Given the description of an element on the screen output the (x, y) to click on. 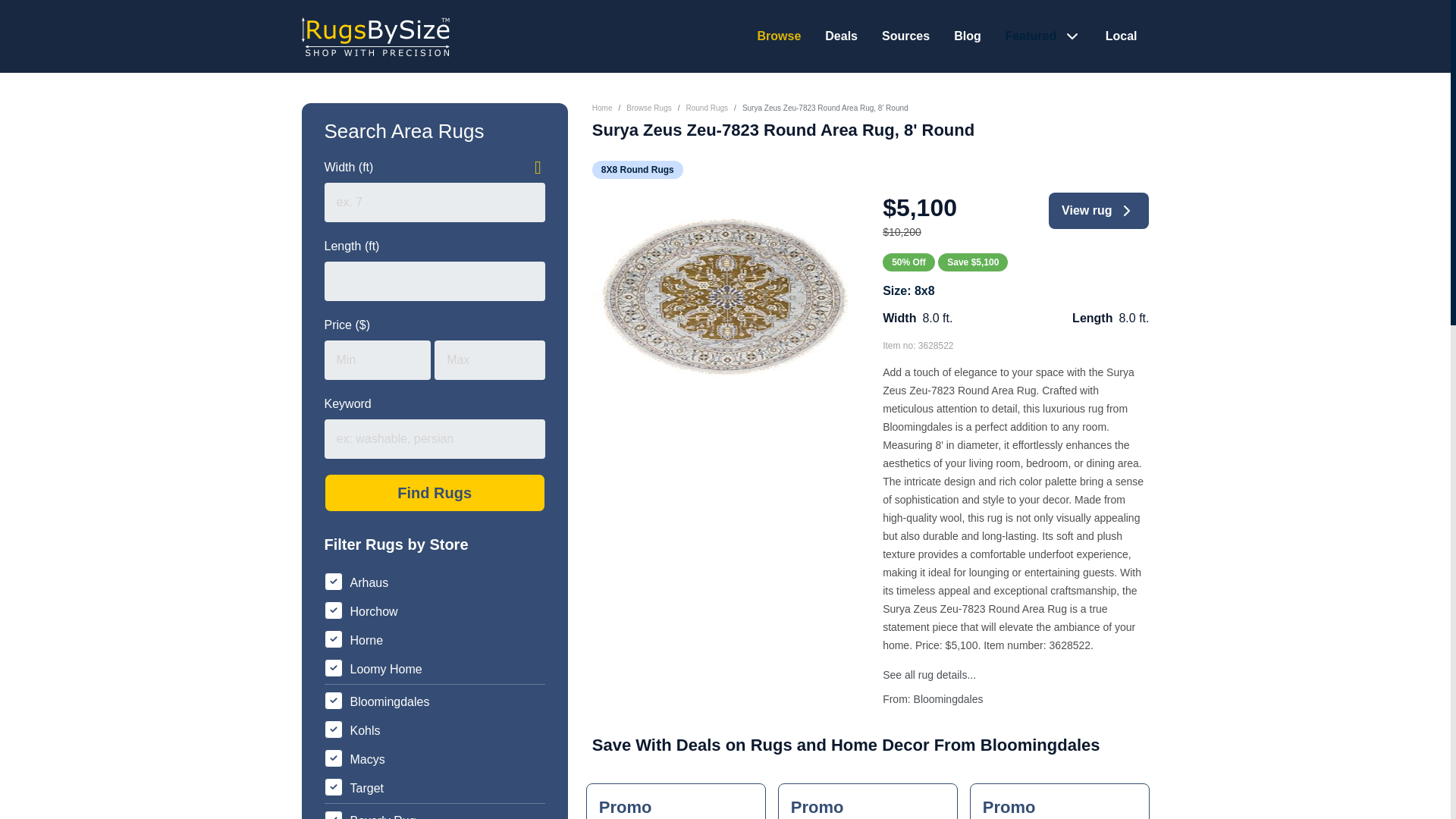
Featured (1032, 35)
Deals (841, 35)
Browse Rugs (648, 108)
Sources (906, 35)
View rug (1098, 210)
Bloomingdales (949, 698)
Round Rugs (706, 108)
Promo (867, 800)
Find Rugs (675, 800)
Home (434, 492)
Blog (602, 108)
Browse (967, 35)
Local (778, 35)
See all rug details... (1121, 35)
